Given the description of an element on the screen output the (x, y) to click on. 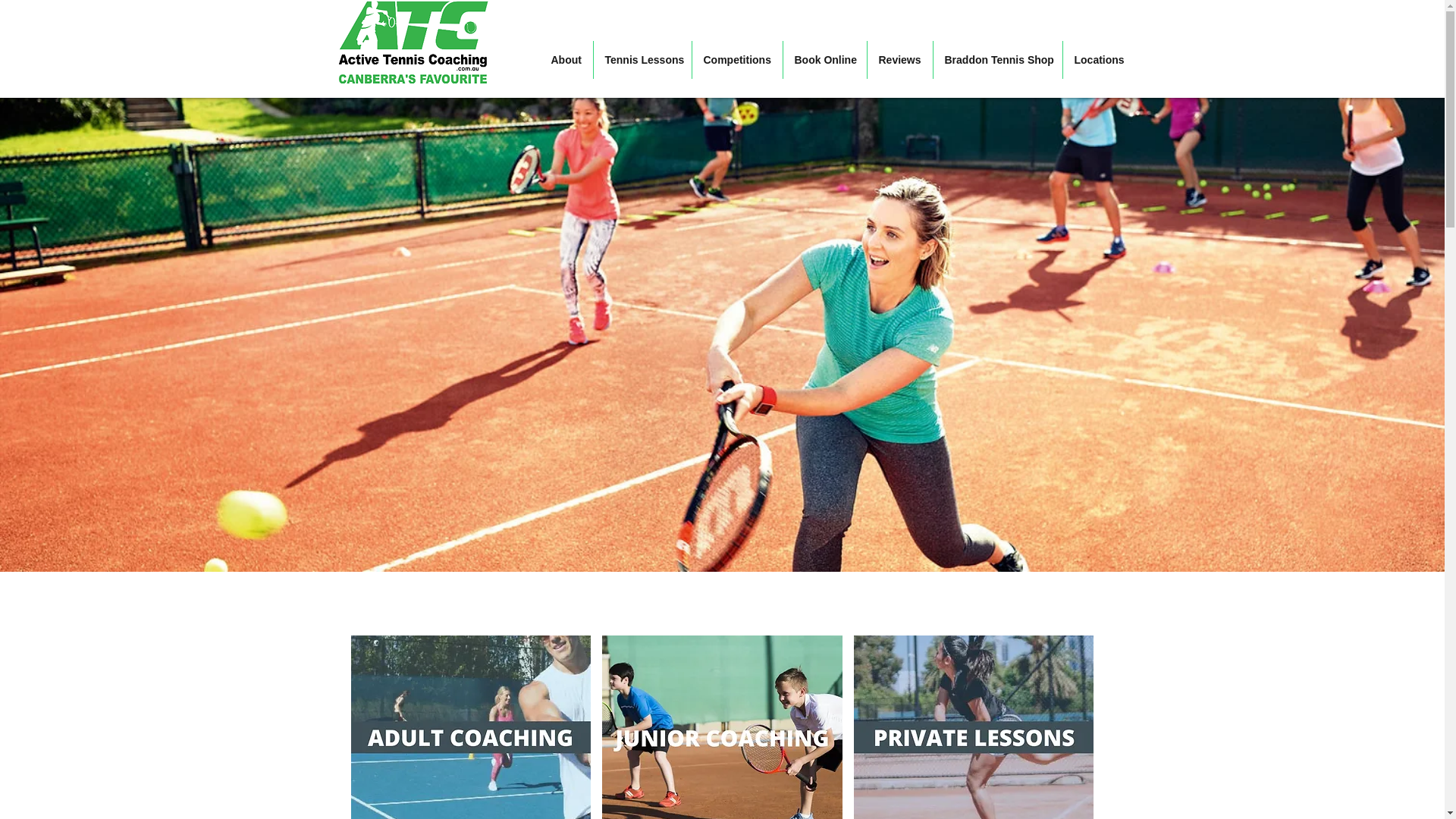
Competitions (736, 59)
Braddon Tennis Shop (997, 59)
Reviews (900, 59)
Tennis Lessons (641, 59)
Locations (1098, 59)
About (566, 59)
Book Online (824, 59)
